Given the description of an element on the screen output the (x, y) to click on. 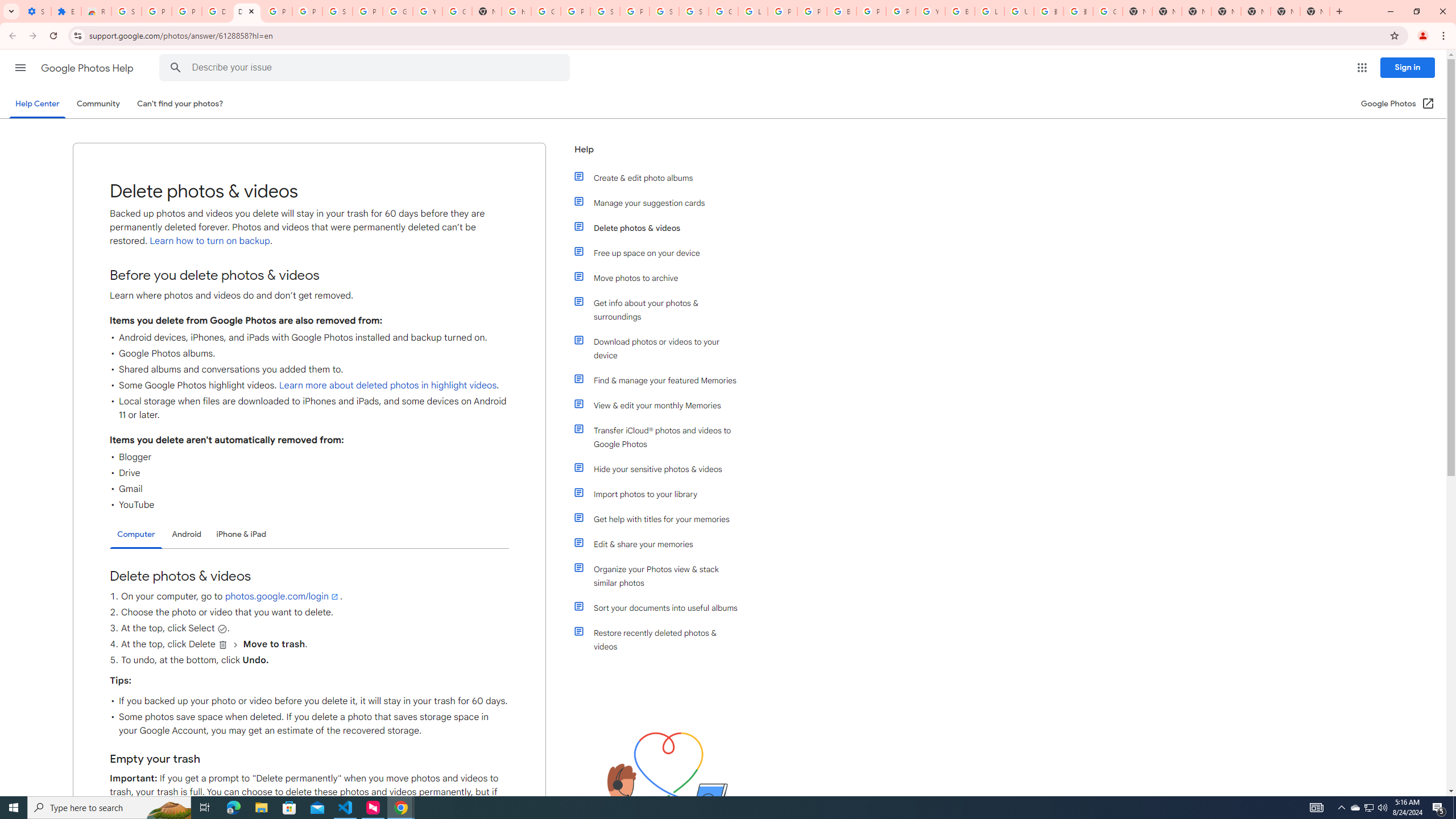
Hide your sensitive photos & videos (661, 469)
Get help with titles for your memories (661, 518)
Privacy Help Center - Policies Help (782, 11)
Delete (223, 644)
Google Photos (Open in a new window) (1397, 103)
Learn more about deleted photos in highlight videos (387, 385)
Create & edit photo albums (661, 177)
